Given the description of an element on the screen output the (x, y) to click on. 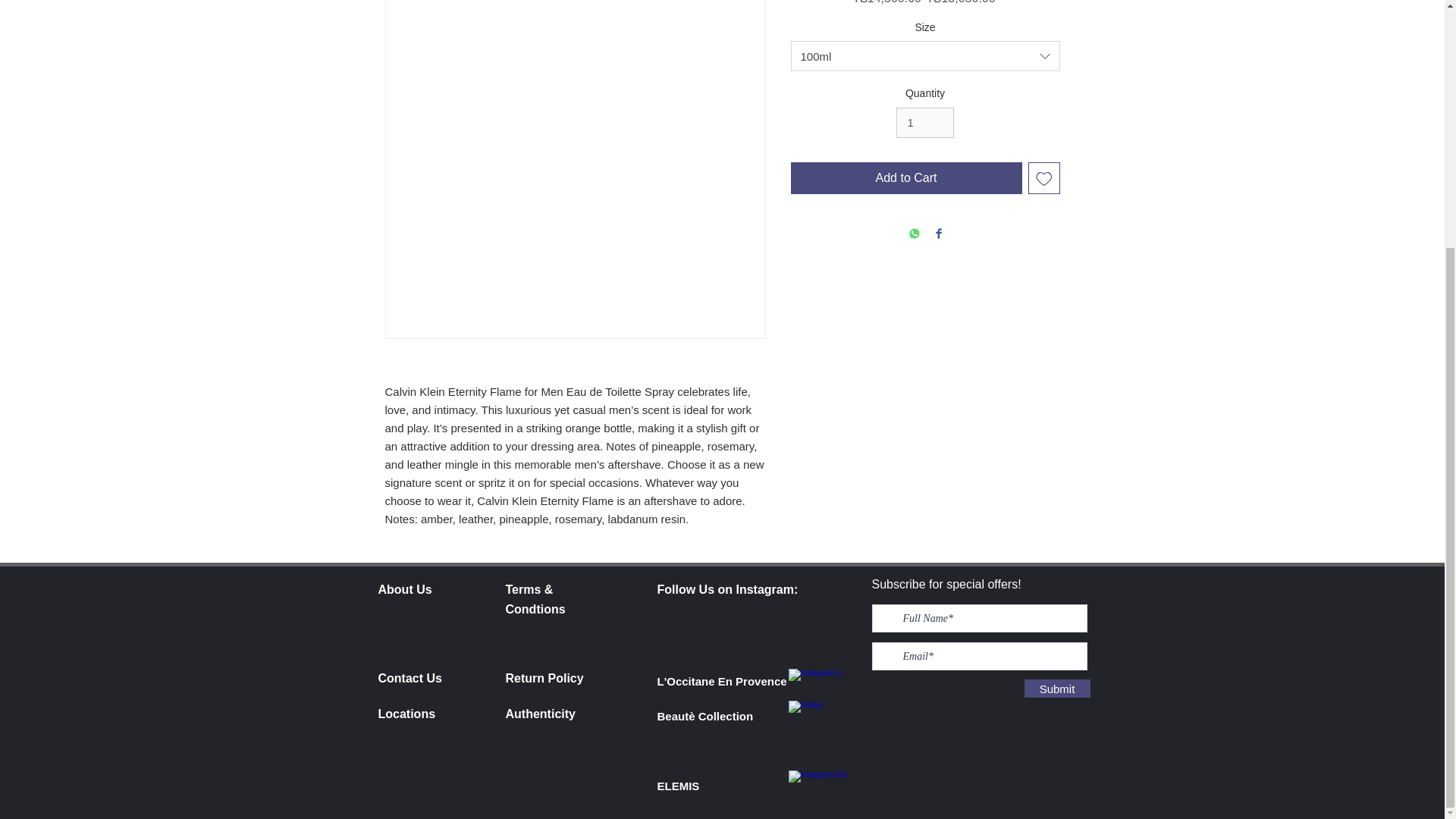
100ml (924, 55)
About Us (403, 589)
ELEMIS (677, 785)
Submit (1056, 688)
Return Policy (544, 677)
Authenticity (540, 713)
Locations (406, 713)
1 (924, 122)
Add to Cart (906, 178)
Contact Us (409, 677)
